Given the description of an element on the screen output the (x, y) to click on. 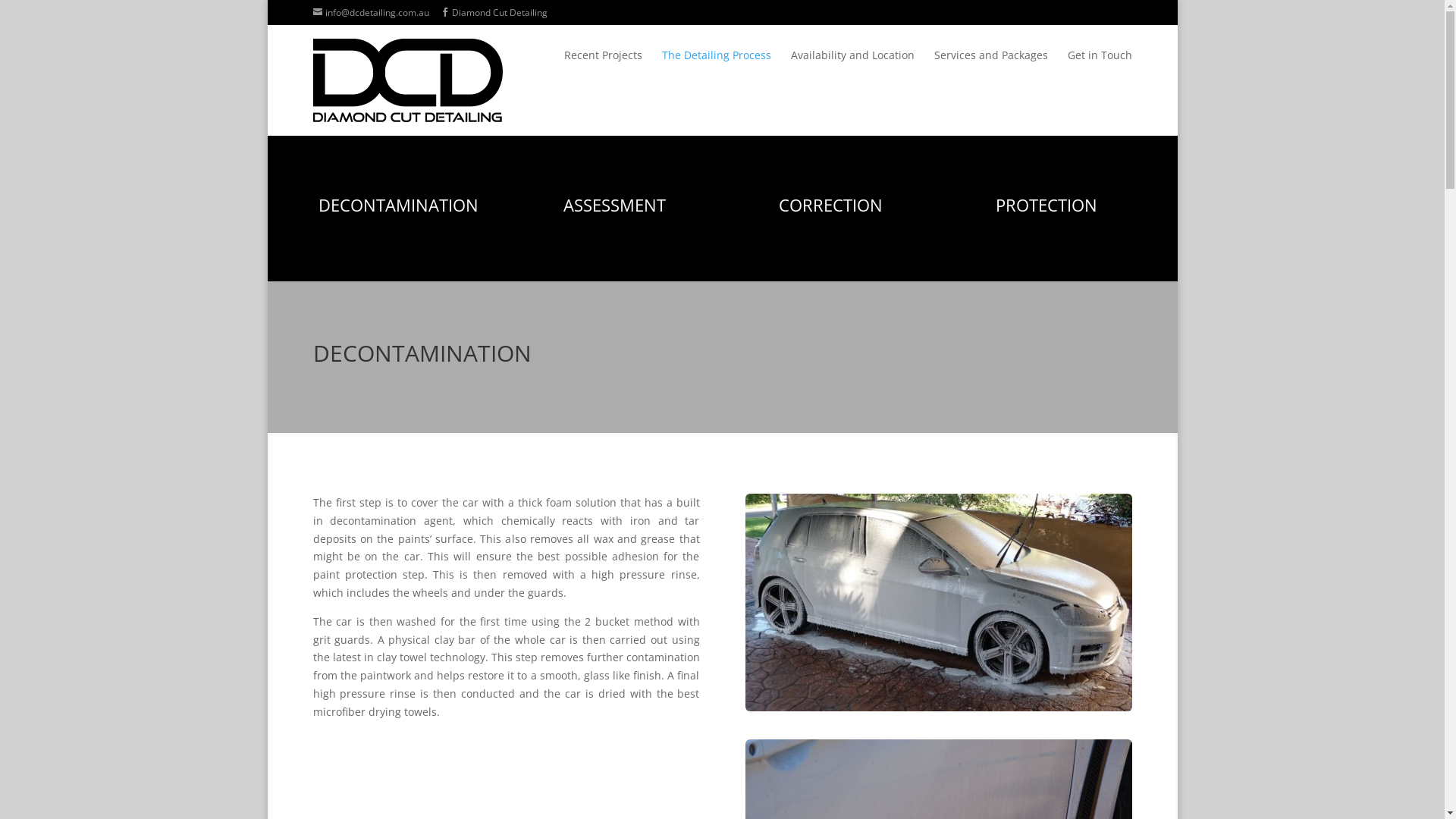
Recent Projects Element type: text (603, 65)
info@dcdetailing.com.au Element type: text (370, 12)
DECONTAMINATION Element type: text (398, 204)
Diamond Cut Detailing Element type: text (492, 12)
Services and Packages Element type: text (991, 65)
Availability and Location Element type: text (851, 65)
ASSESSMENT Element type: text (613, 204)
The Detailing Process Element type: text (715, 65)
Get in Touch Element type: text (1099, 65)
CORRECTION Element type: text (829, 204)
PROTECTION Element type: text (1046, 204)
